Given the description of an element on the screen output the (x, y) to click on. 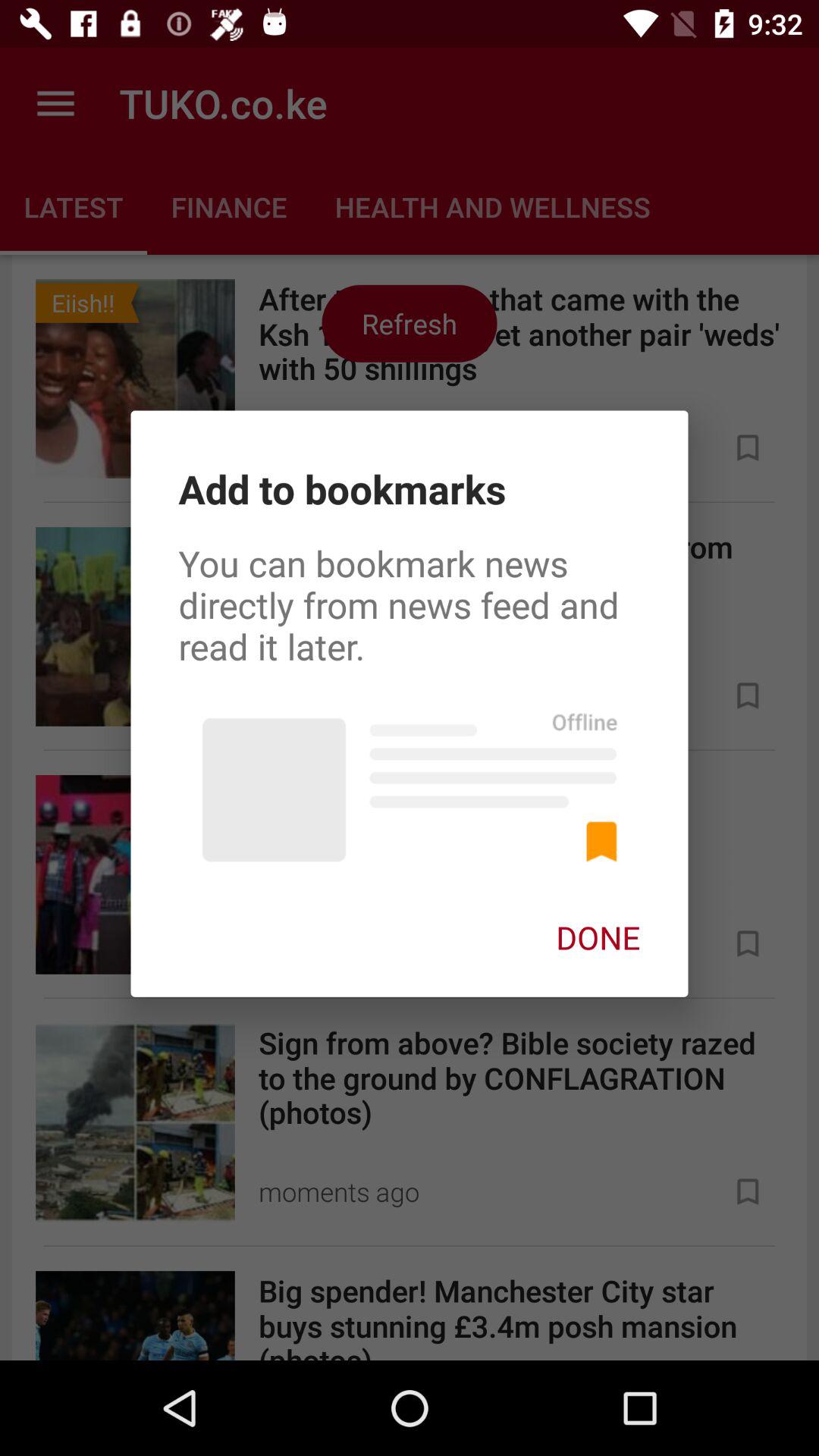
press done icon (598, 936)
